Given the description of an element on the screen output the (x, y) to click on. 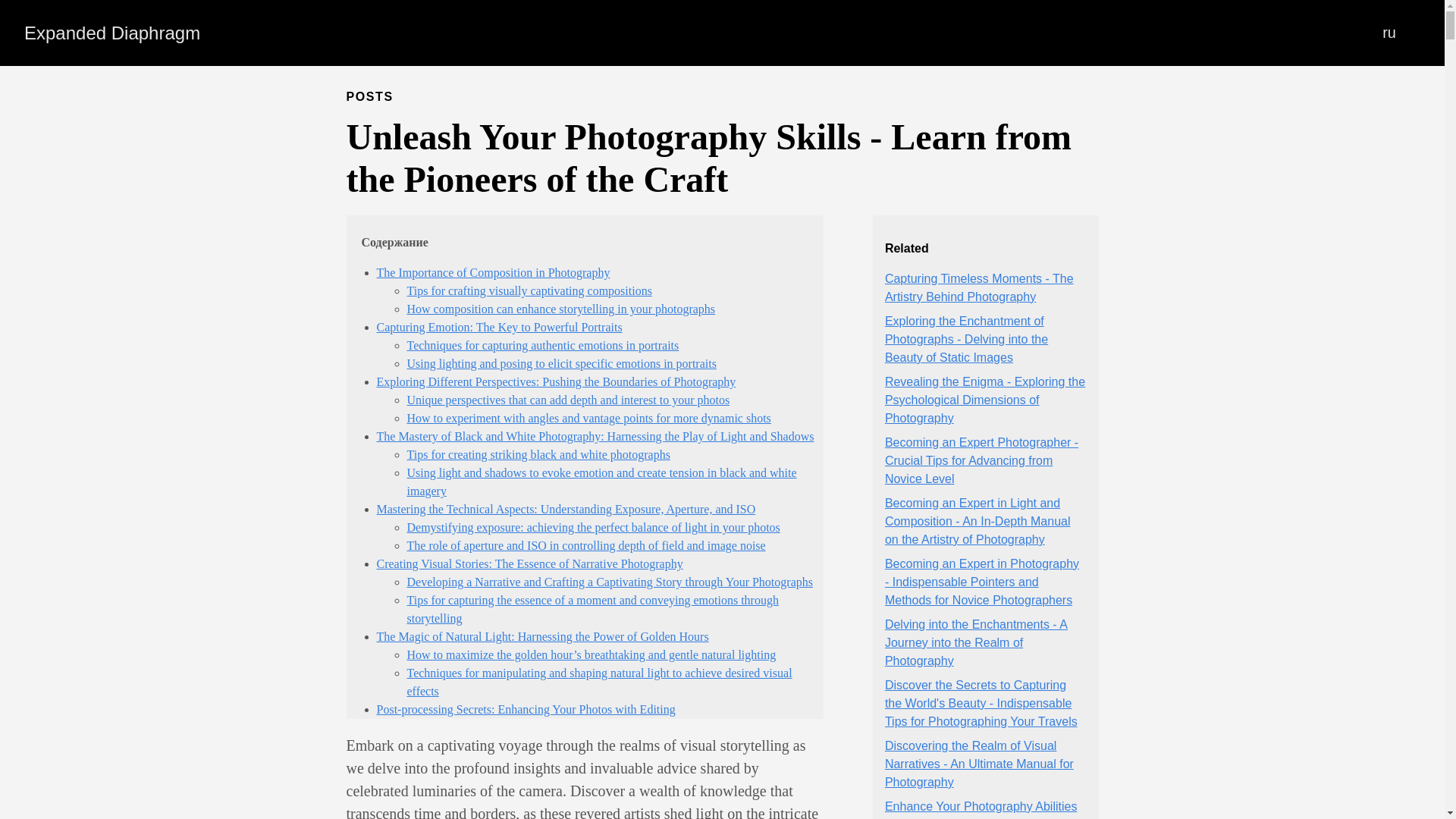
Expanded Diaphragm (112, 33)
Capturing Emotion: The Key to Powerful Portraits (498, 327)
How composition can enhance storytelling in your photographs (560, 308)
ru (1388, 32)
Tips for crafting visually captivating compositions (528, 290)
The Importance of Composition in Photography (492, 272)
Tips for creating striking black and white photographs (537, 454)
Capturing Timeless Moments - The Artistry Behind Photography (979, 287)
